Given the description of an element on the screen output the (x, y) to click on. 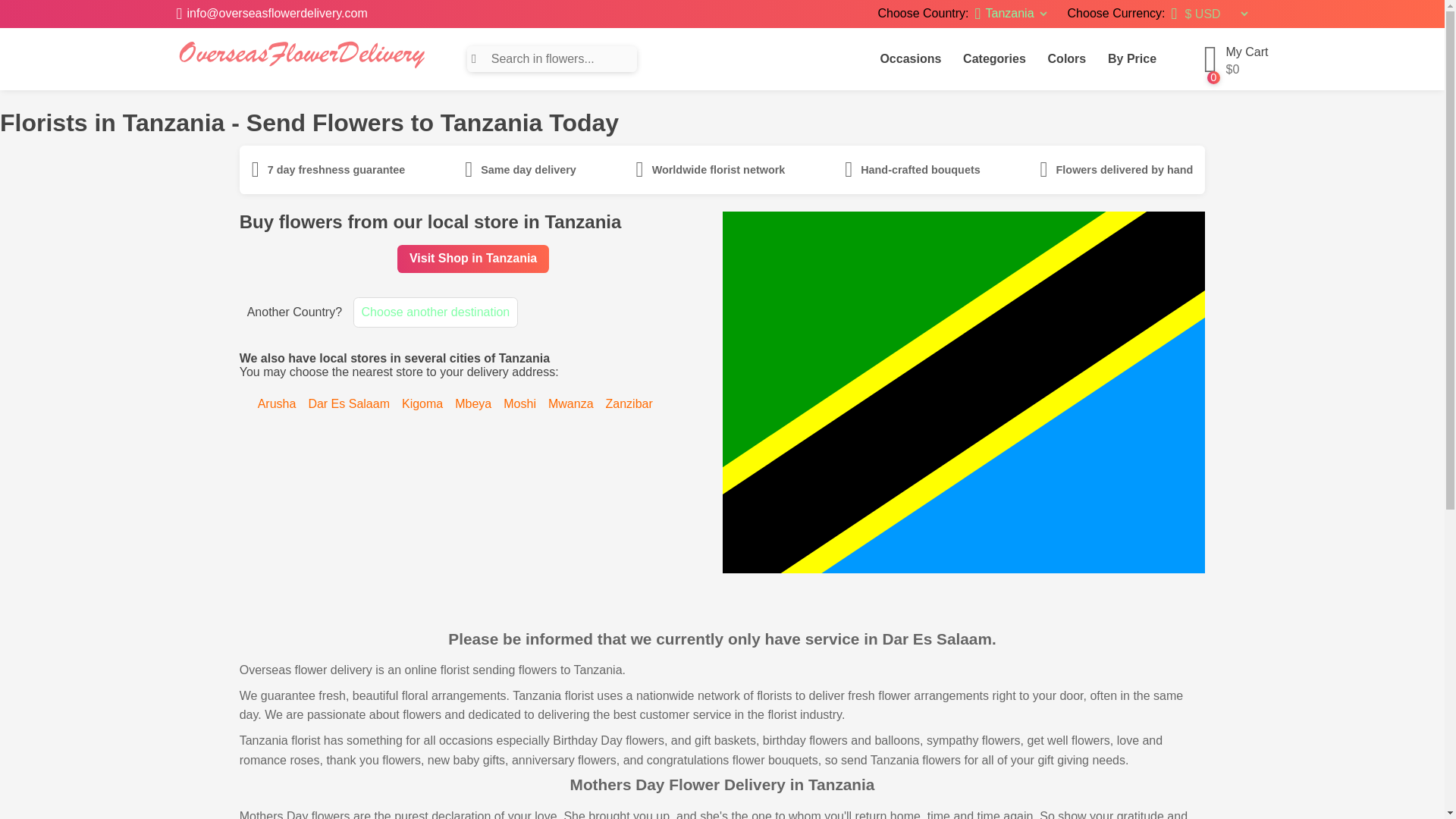
Occasions (910, 58)
Colors (1066, 58)
Categories (993, 58)
